Given the description of an element on the screen output the (x, y) to click on. 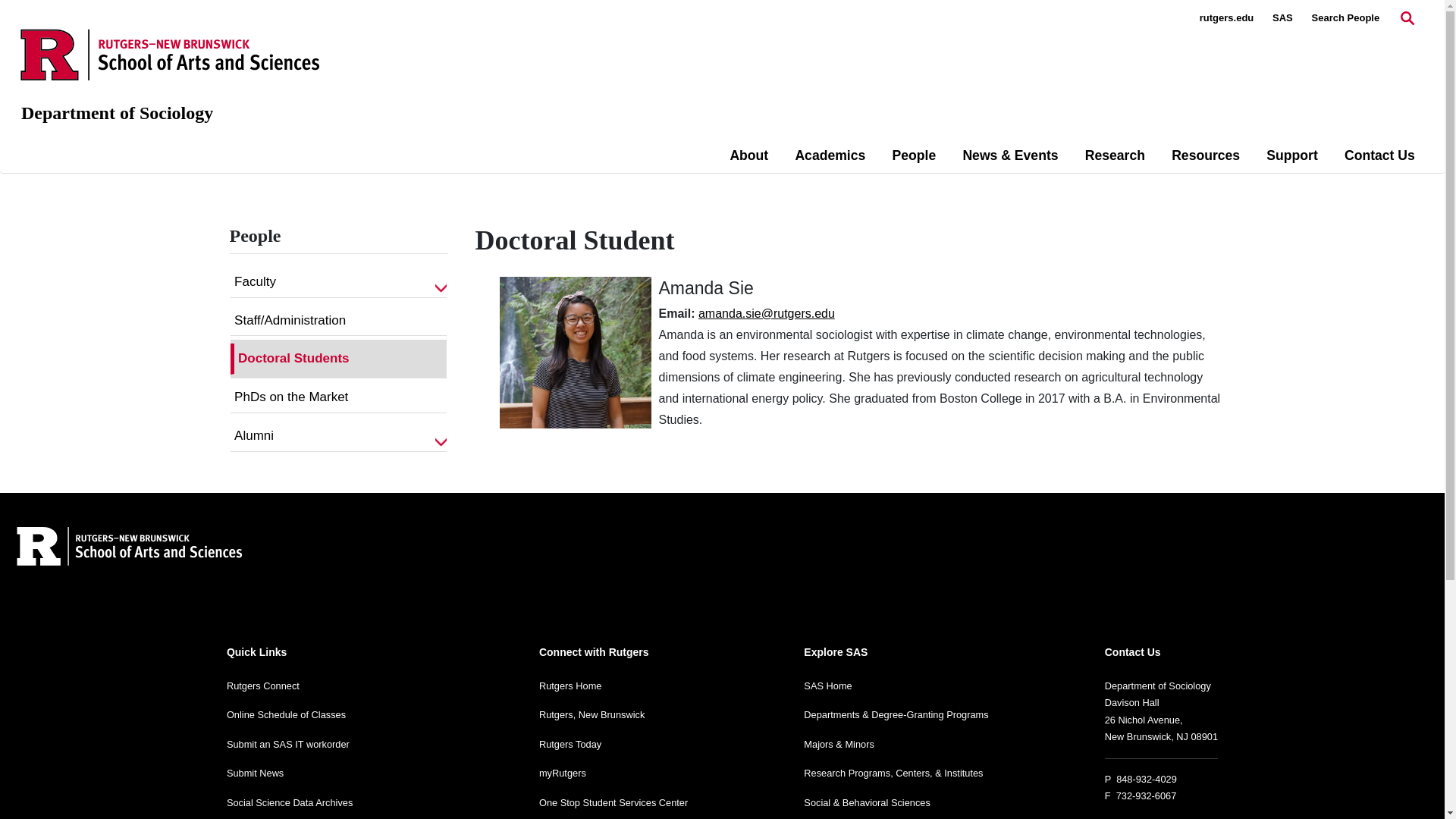
Department of Sociology (116, 112)
Resources (1206, 155)
Search People (1345, 17)
People (914, 155)
About (748, 155)
Research (1114, 155)
SAS (1282, 17)
Academics (829, 155)
rutgers.edu (1226, 17)
